Given the description of an element on the screen output the (x, y) to click on. 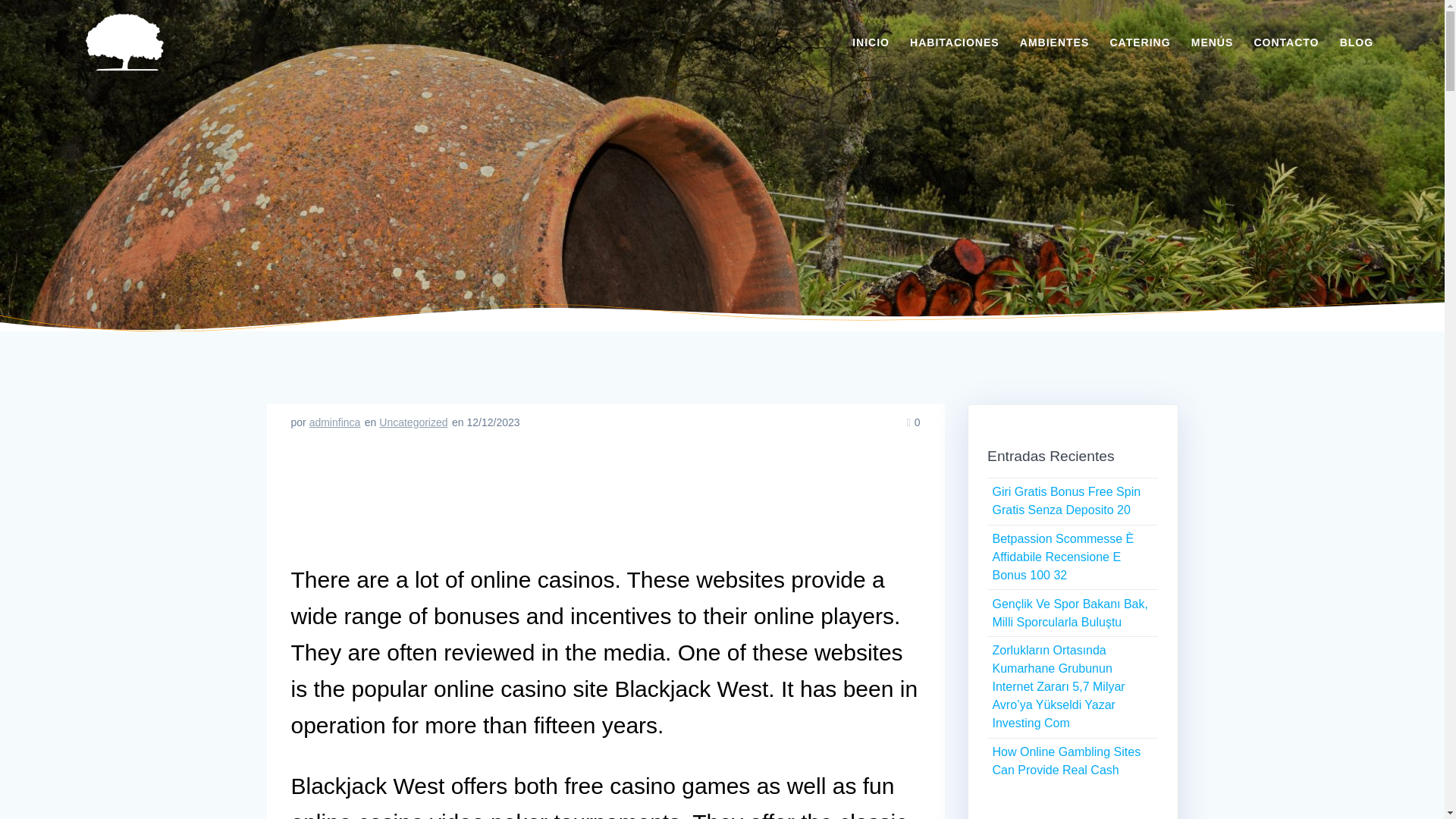
CATERING (1139, 42)
Entradas de adminfinca (334, 422)
Giri Gratis Bonus Free Spin Gratis Senza Deposito 20 (1065, 500)
INICIO (870, 42)
AMBIENTES (1054, 42)
Uncategorized (412, 422)
adminfinca (334, 422)
How Online Gambling Sites Can Provide Real Cash (1065, 760)
BLOG (1356, 42)
HABITACIONES (954, 42)
